Given the description of an element on the screen output the (x, y) to click on. 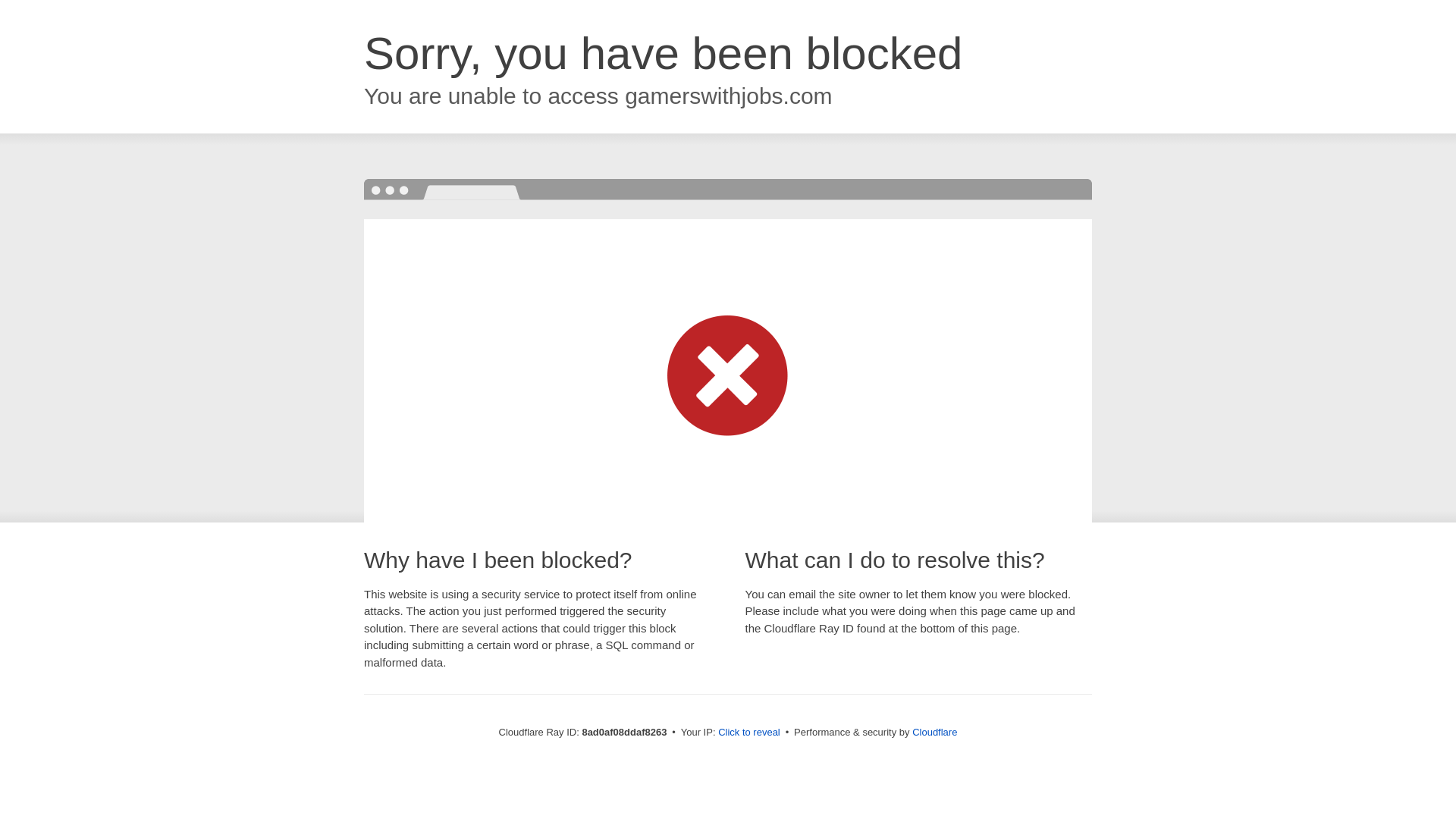
Click to reveal (748, 732)
Cloudflare (934, 731)
